Given the description of an element on the screen output the (x, y) to click on. 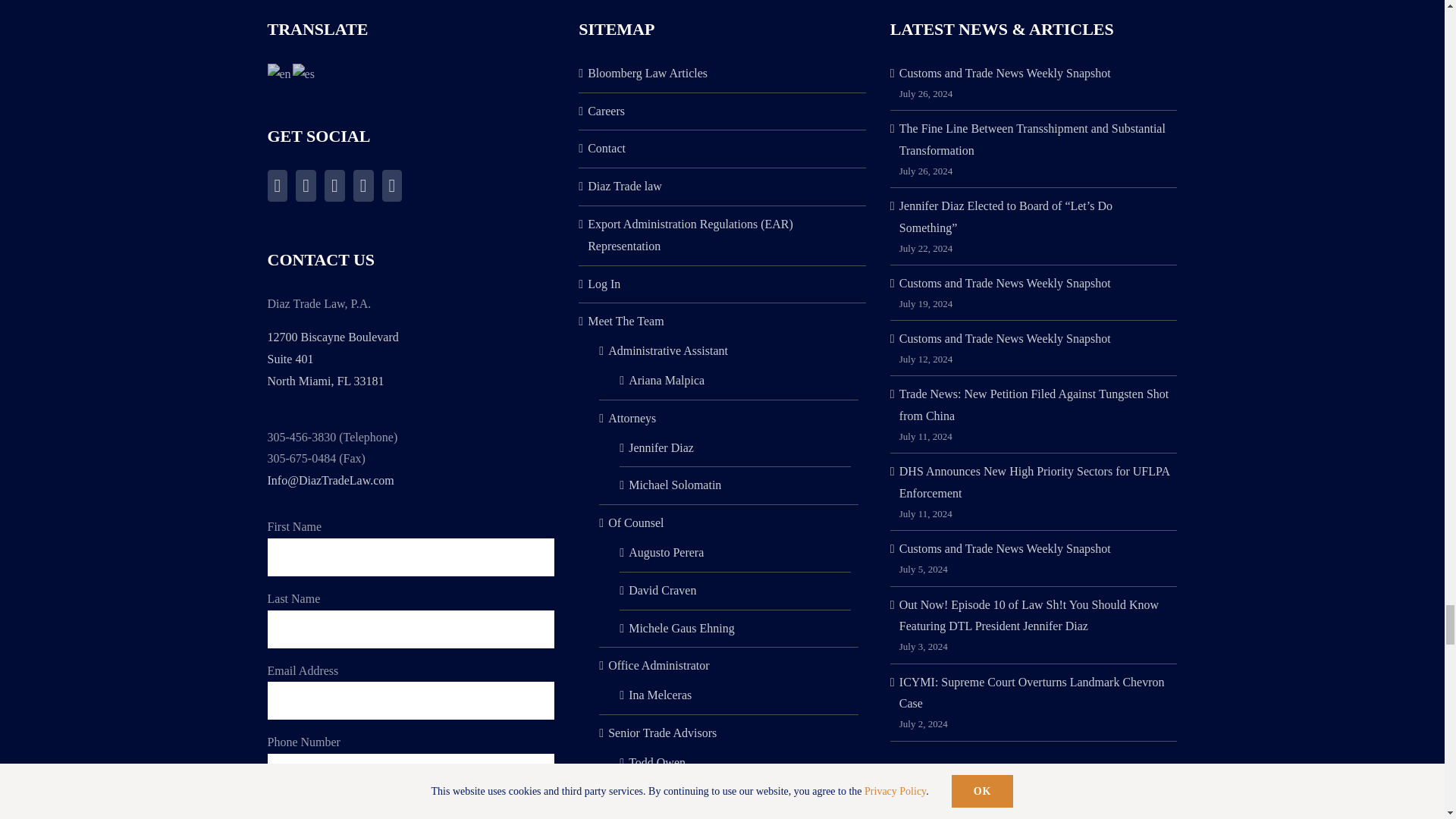
English (279, 72)
Spanish (303, 72)
